Given the description of an element on the screen output the (x, y) to click on. 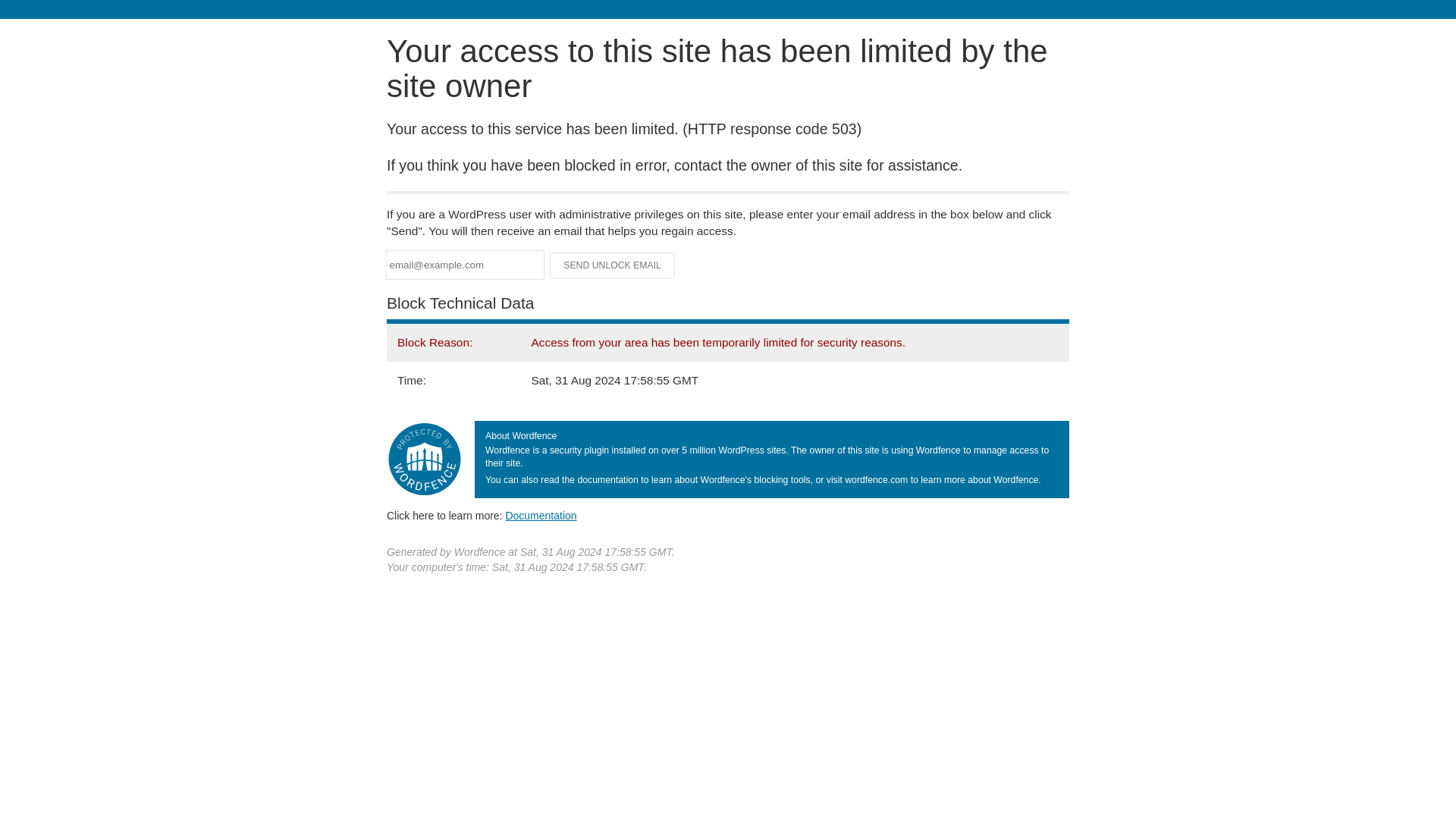
Send Unlock Email (612, 265)
Send Unlock Email (612, 265)
Documentation (540, 515)
